Given the description of an element on the screen output the (x, y) to click on. 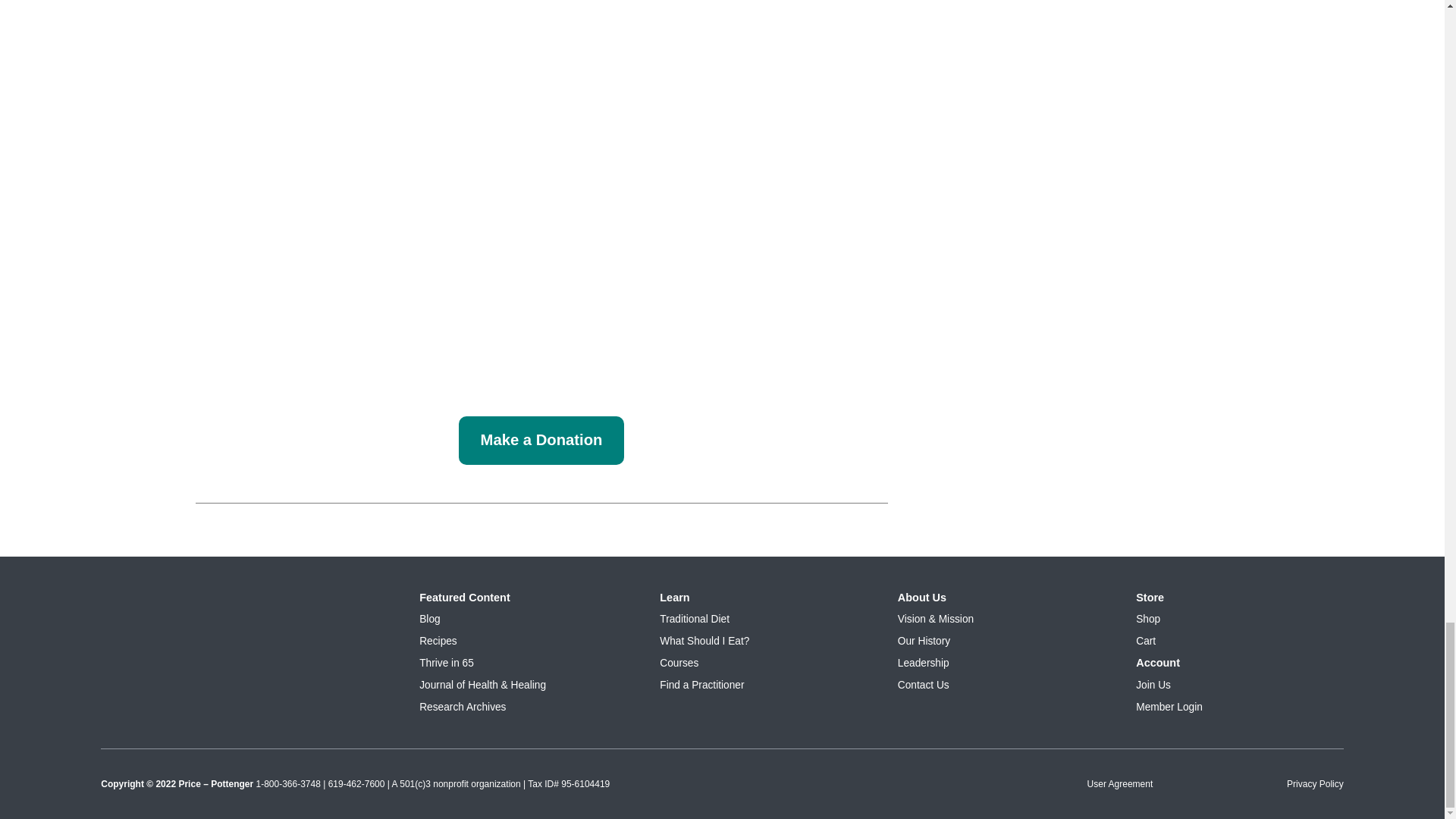
facebookWhiteLogo (285, 659)
ppWhiteLogo (244, 602)
youtubeWhiteLogo (364, 658)
twitterWhiteLogo (125, 659)
instagramWhiteLogo (204, 659)
